Given the description of an element on the screen output the (x, y) to click on. 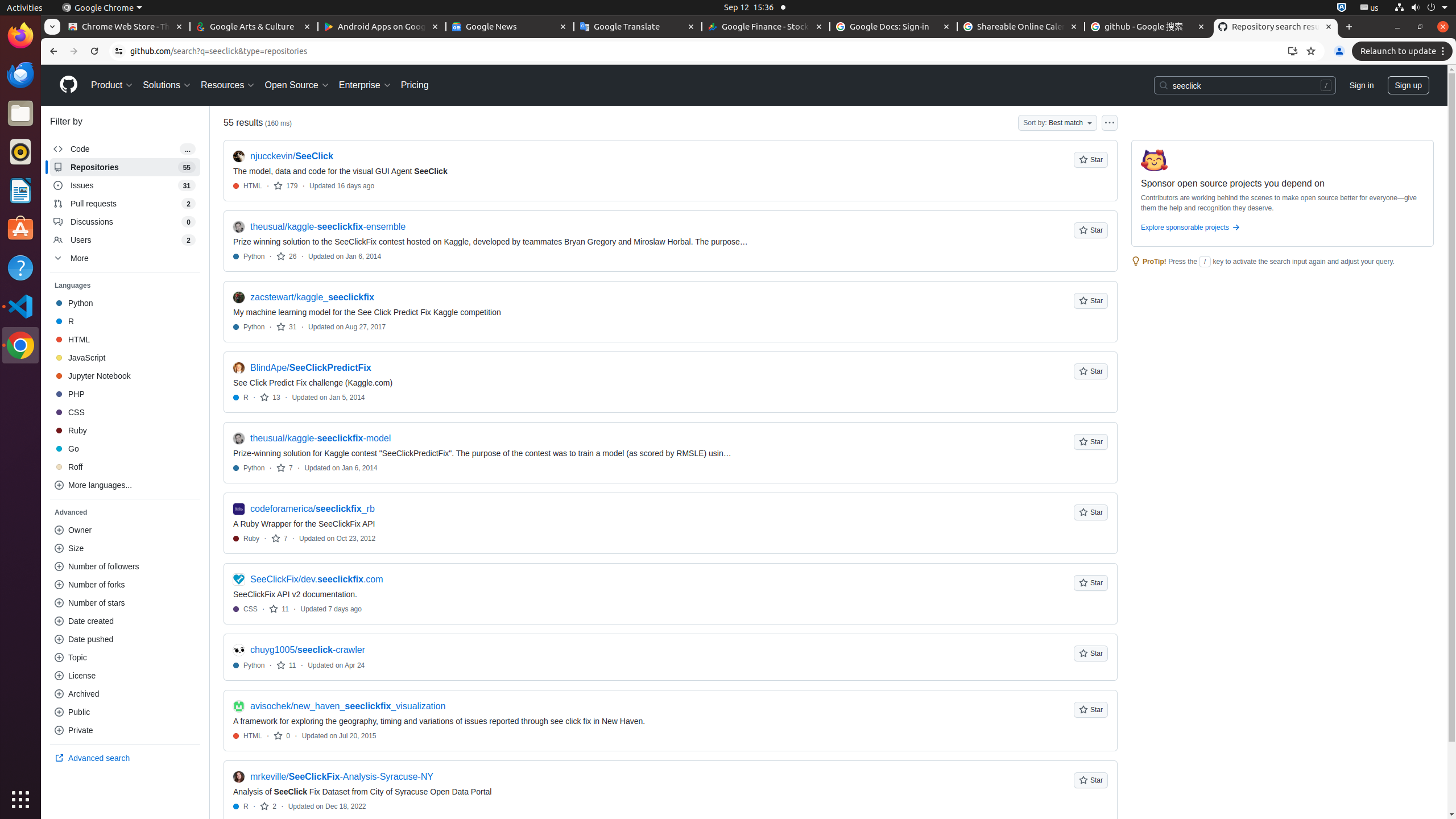
SeeClickFix/dev.seeclickfix.com Element type: link (316, 579)
Android Apps on Google Play - Memory usage - 52.4 MB Element type: page-tab (381, 26)
‎Date pushed‎ Element type: push-button (125, 639)
zacstewart/kaggle_seeclickfix Element type: link (312, 297)
Open column options Element type: push-button (1109, 122)
